Given the description of an element on the screen output the (x, y) to click on. 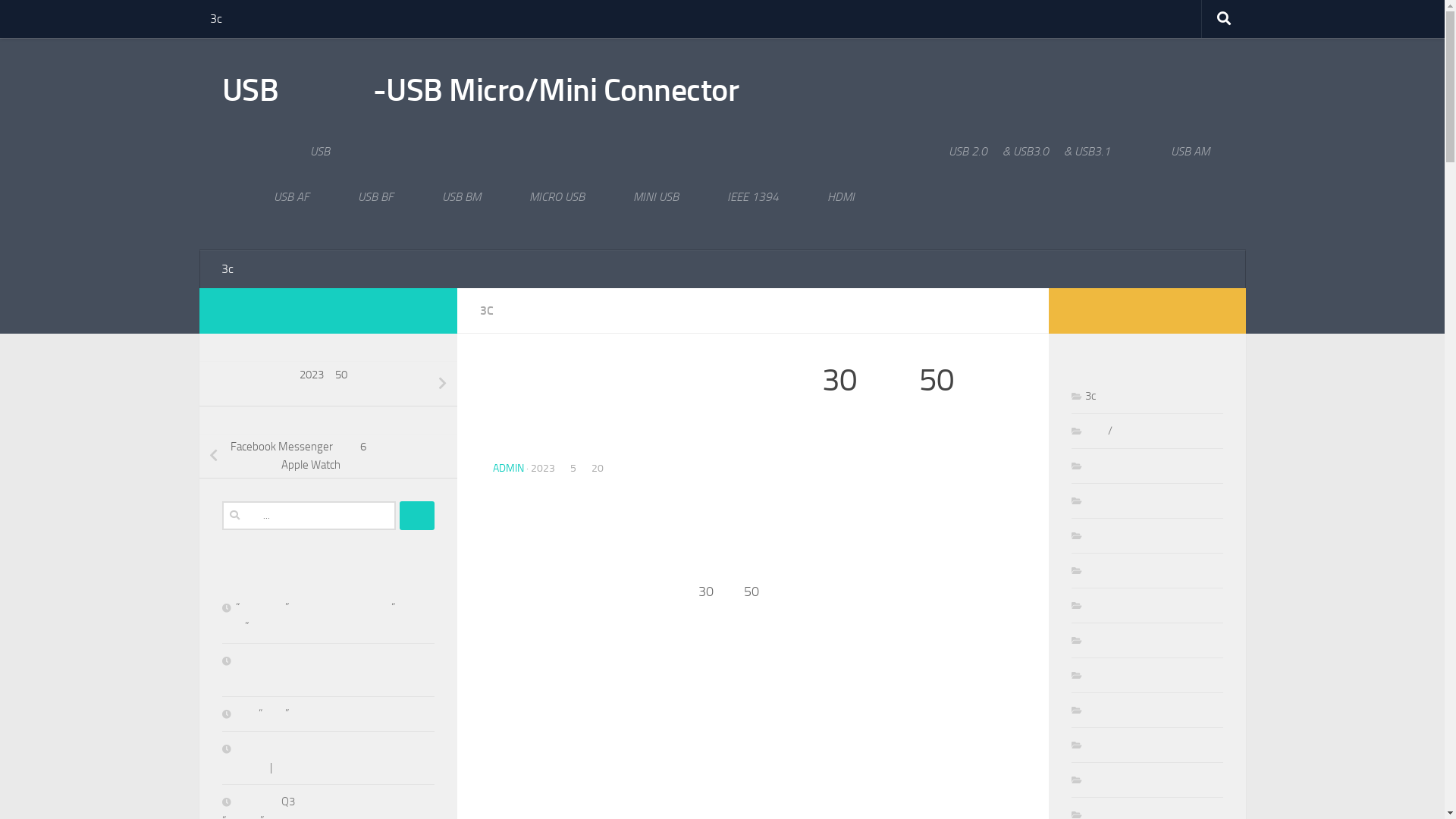
ADMIN Element type: text (508, 467)
Skip to content Element type: text (60, 21)
